Given the description of an element on the screen output the (x, y) to click on. 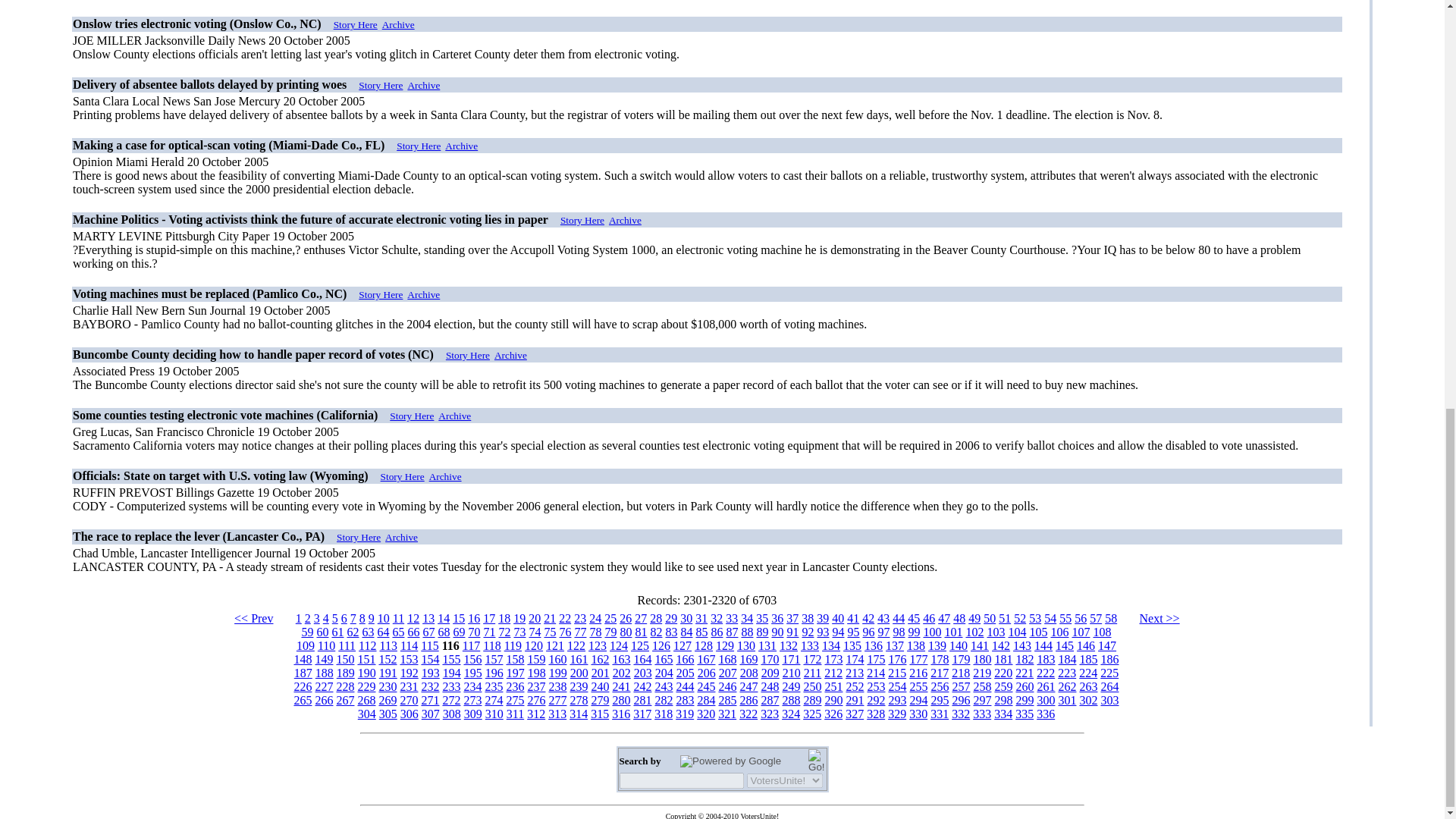
Powered by Google (729, 761)
Story Here (418, 145)
Story Here (380, 84)
Archive (423, 84)
Archive (397, 24)
Archive (461, 145)
Story Here (355, 24)
Google Search (816, 761)
